Given the description of an element on the screen output the (x, y) to click on. 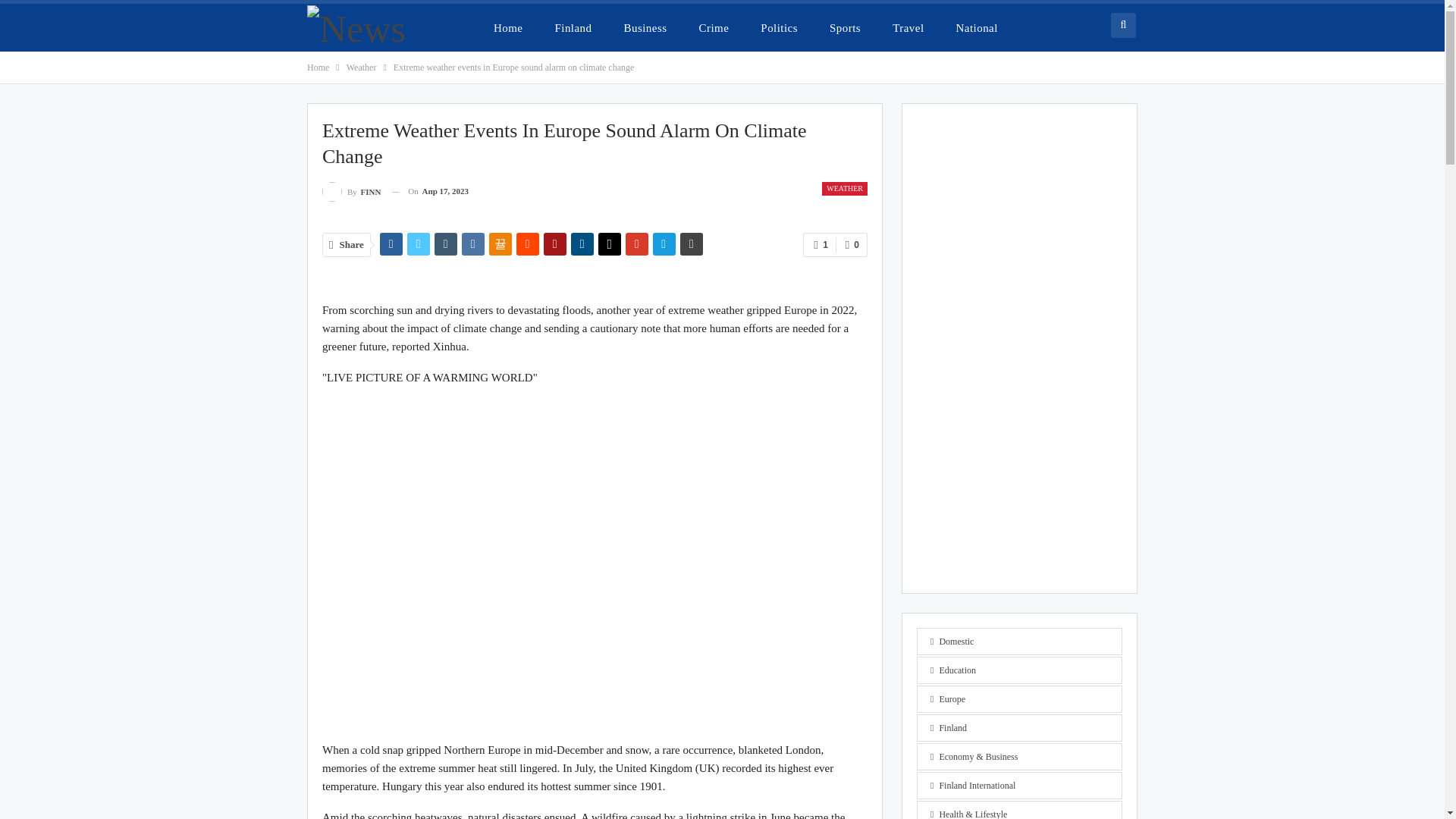
Browse Author Articles (350, 190)
Crime (714, 27)
Travel (908, 27)
Weather (361, 67)
Home (508, 27)
Business (645, 27)
WEATHER (844, 188)
0 (851, 244)
Politics (778, 27)
By FINN (350, 190)
Finland (572, 27)
National (976, 27)
Sports (844, 27)
Home (318, 67)
